Given the description of an element on the screen output the (x, y) to click on. 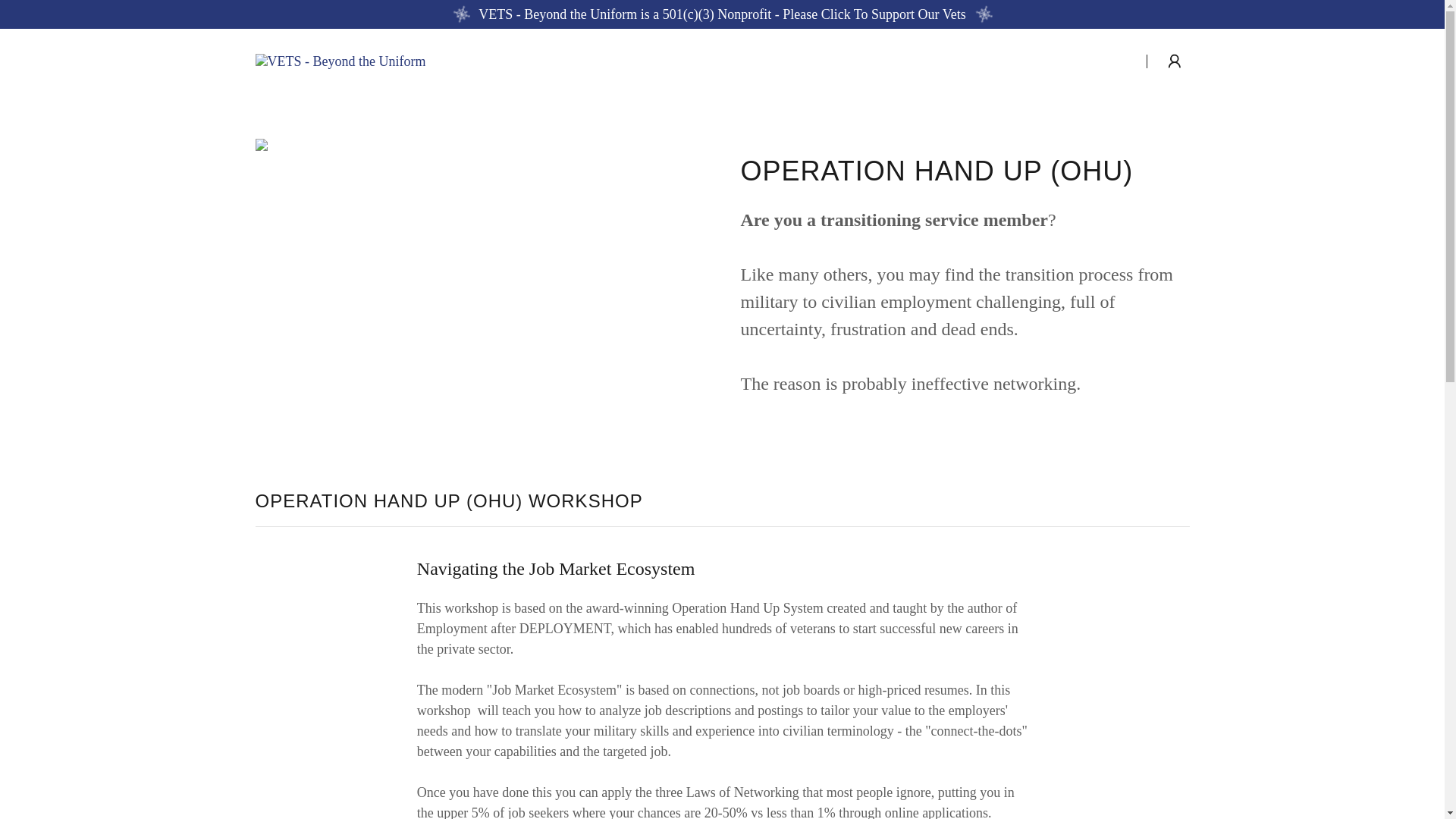
VETS - Beyond the Uniform (339, 59)
